Given the description of an element on the screen output the (x, y) to click on. 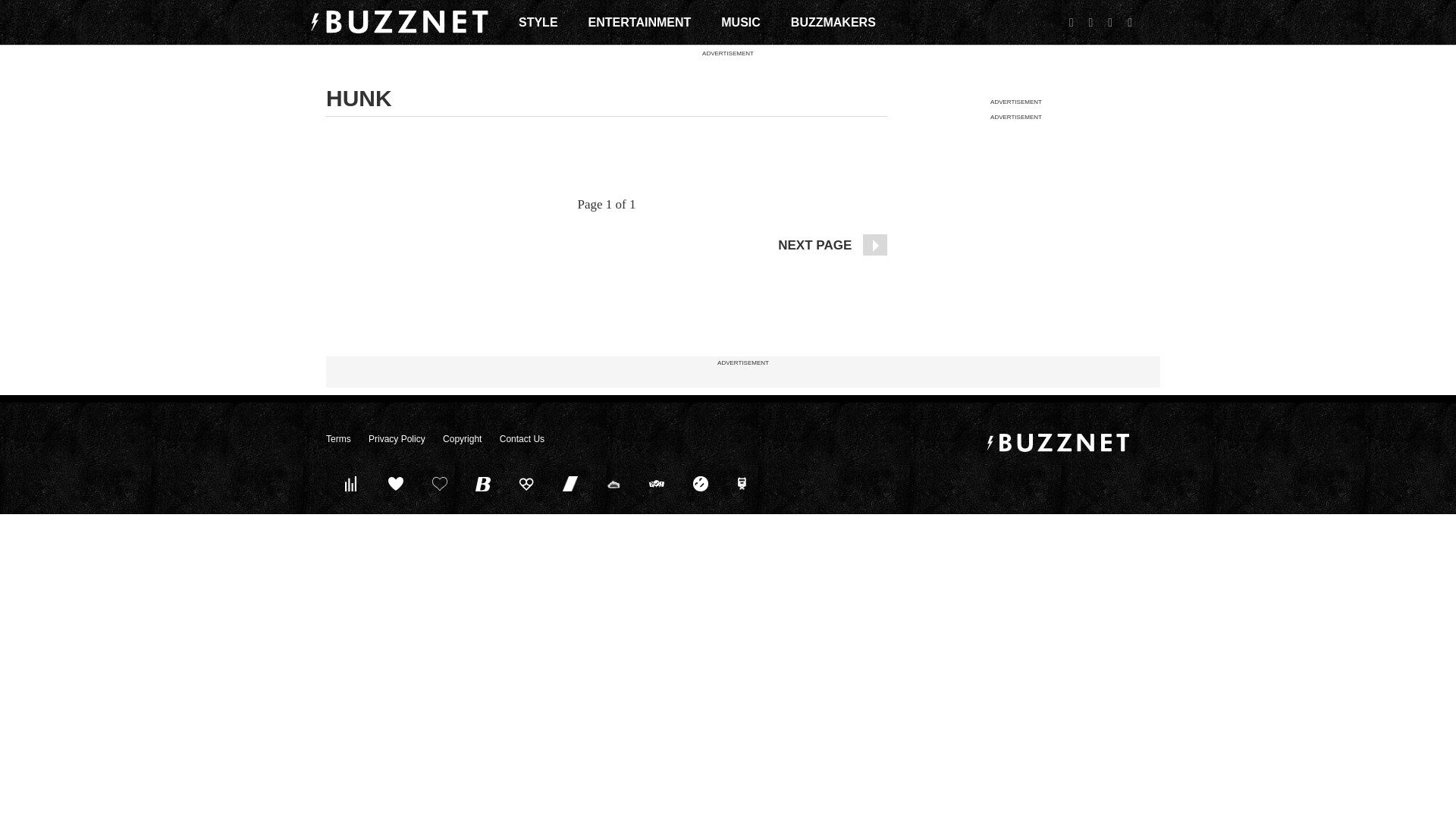
ENTERTAINMENT (639, 22)
Trend Chaser (570, 483)
Post Fun (439, 483)
MUSIC (740, 22)
Idolator (395, 483)
Terms (338, 439)
Hooch (526, 483)
Taco Relish (612, 483)
Pure Volume (351, 483)
Explored Hollywood (743, 483)
Contact Us (521, 439)
Privacy Policy (396, 439)
BleacherBreaker (483, 483)
Quizscape (656, 483)
BUZZMAKERS (833, 22)
